Given the description of an element on the screen output the (x, y) to click on. 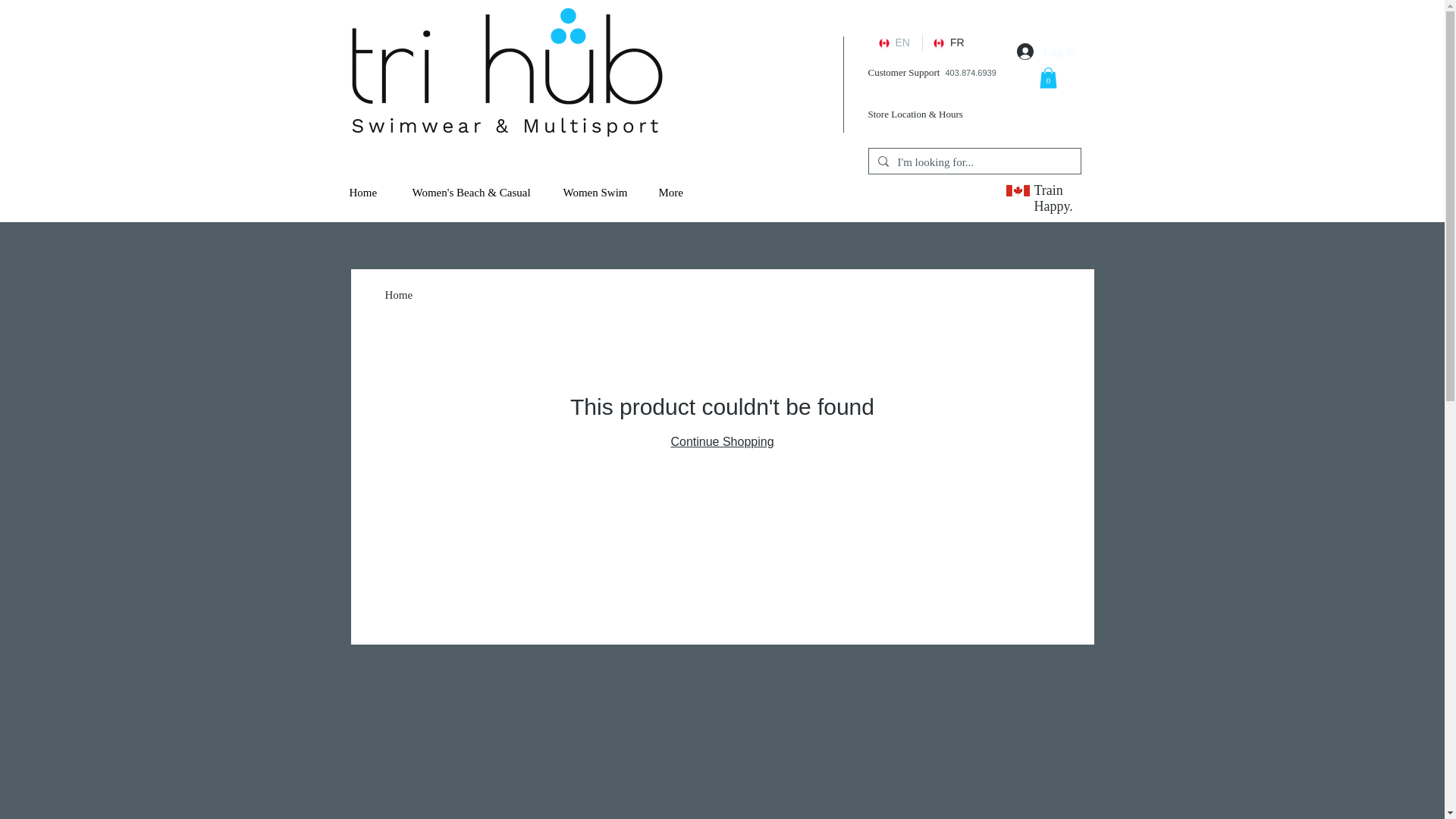
Log In (1035, 51)
FR (948, 42)
Canada Flag.png (1017, 190)
Home (369, 192)
Women Swim (599, 192)
Home (399, 295)
EN (894, 42)
Continue Shopping (721, 440)
